Given the description of an element on the screen output the (x, y) to click on. 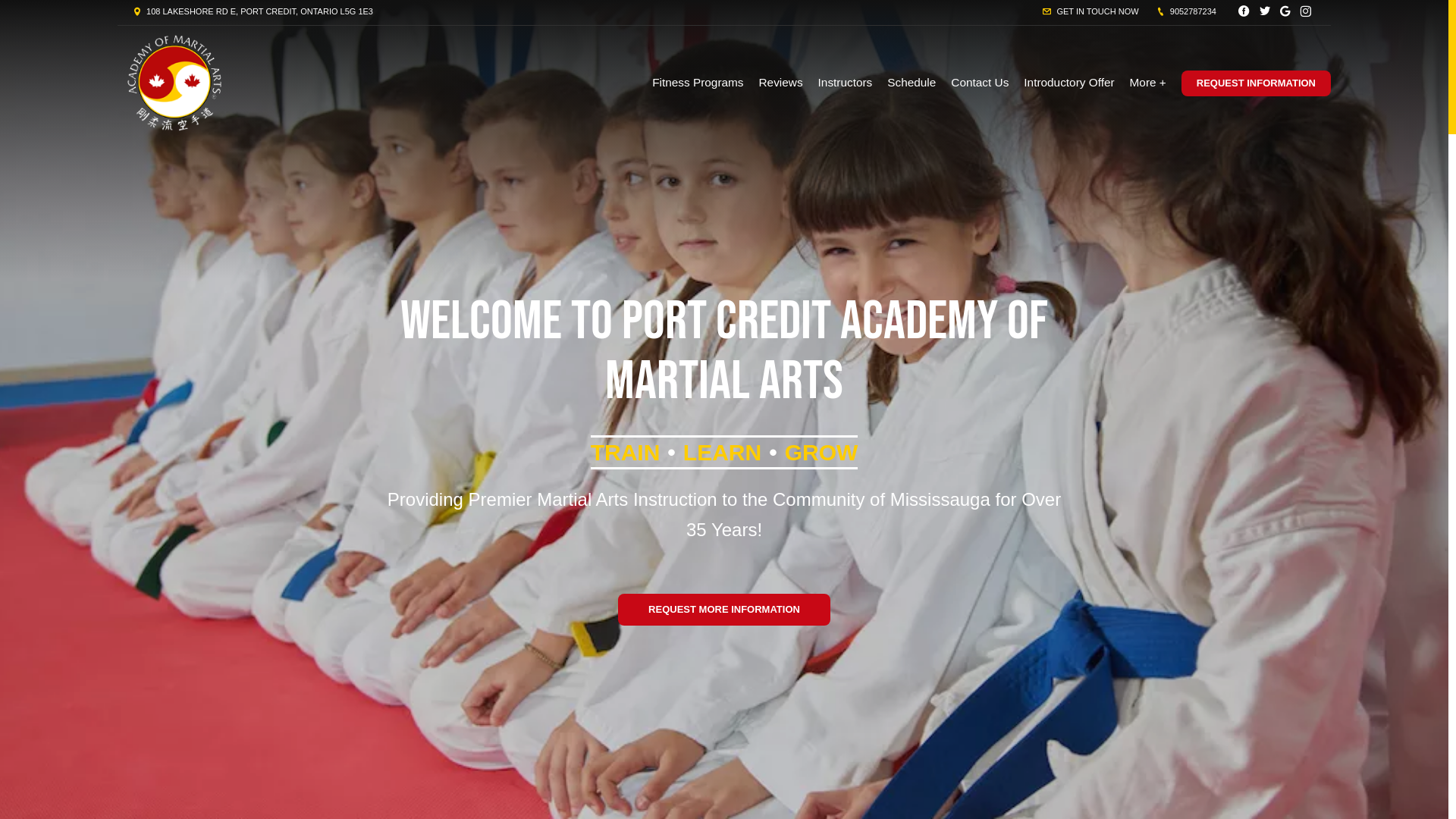
Introductory Offer Element type: text (1068, 82)
Reviews Element type: text (780, 82)
9052787234 Element type: text (1186, 10)
Fitness Programs Element type: text (697, 82)
GET IN TOUCH NOW Element type: text (1090, 10)
REQUEST MORE INFORMATION Element type: text (724, 609)
More + Element type: text (1147, 82)
REQUEST INFORMATION Element type: text (1255, 83)
Contact Us Element type: text (979, 82)
Schedule Element type: text (911, 82)
Instructors Element type: text (845, 82)
